Given the description of an element on the screen output the (x, y) to click on. 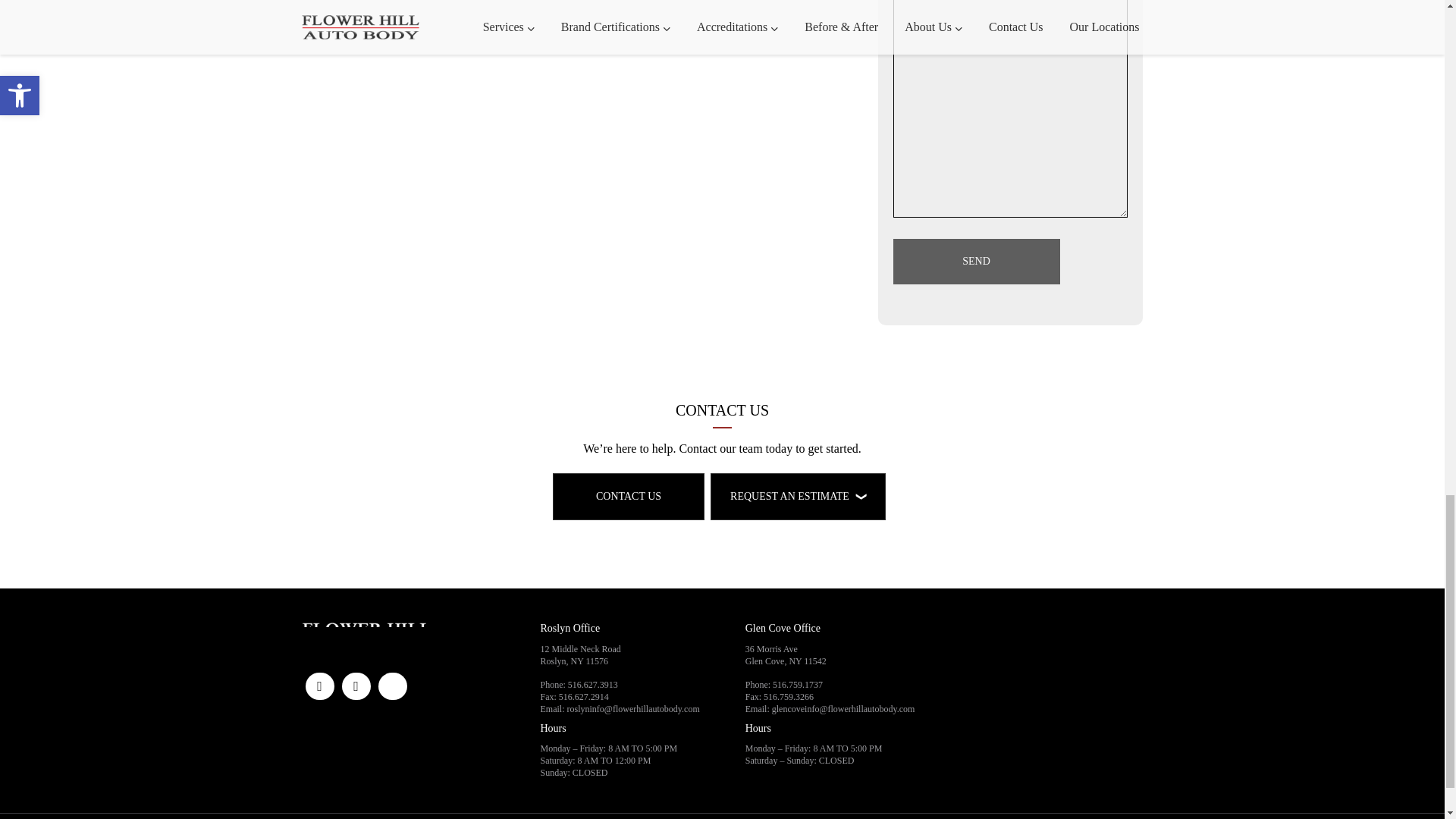
Send (976, 261)
